Given the description of an element on the screen output the (x, y) to click on. 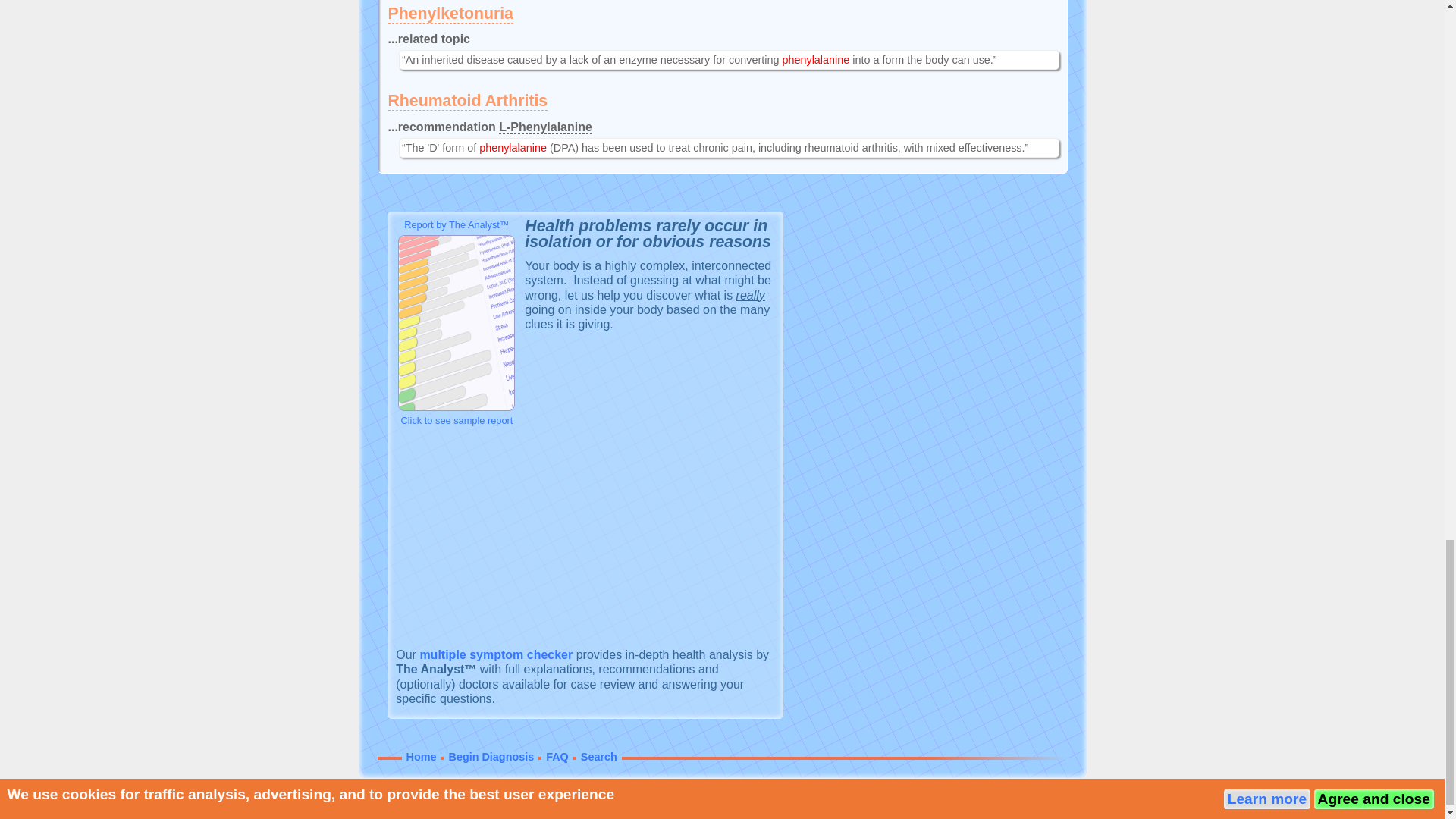
multiple symptom checker (495, 654)
Home (421, 756)
Search (598, 756)
Begin Diagnosis (491, 756)
Phenylketonuria (450, 13)
L-Phenylalanine (545, 127)
FAQ (557, 756)
Rheumatoid Arthritis (468, 100)
Begin Symptom Entry (495, 654)
